Given the description of an element on the screen output the (x, y) to click on. 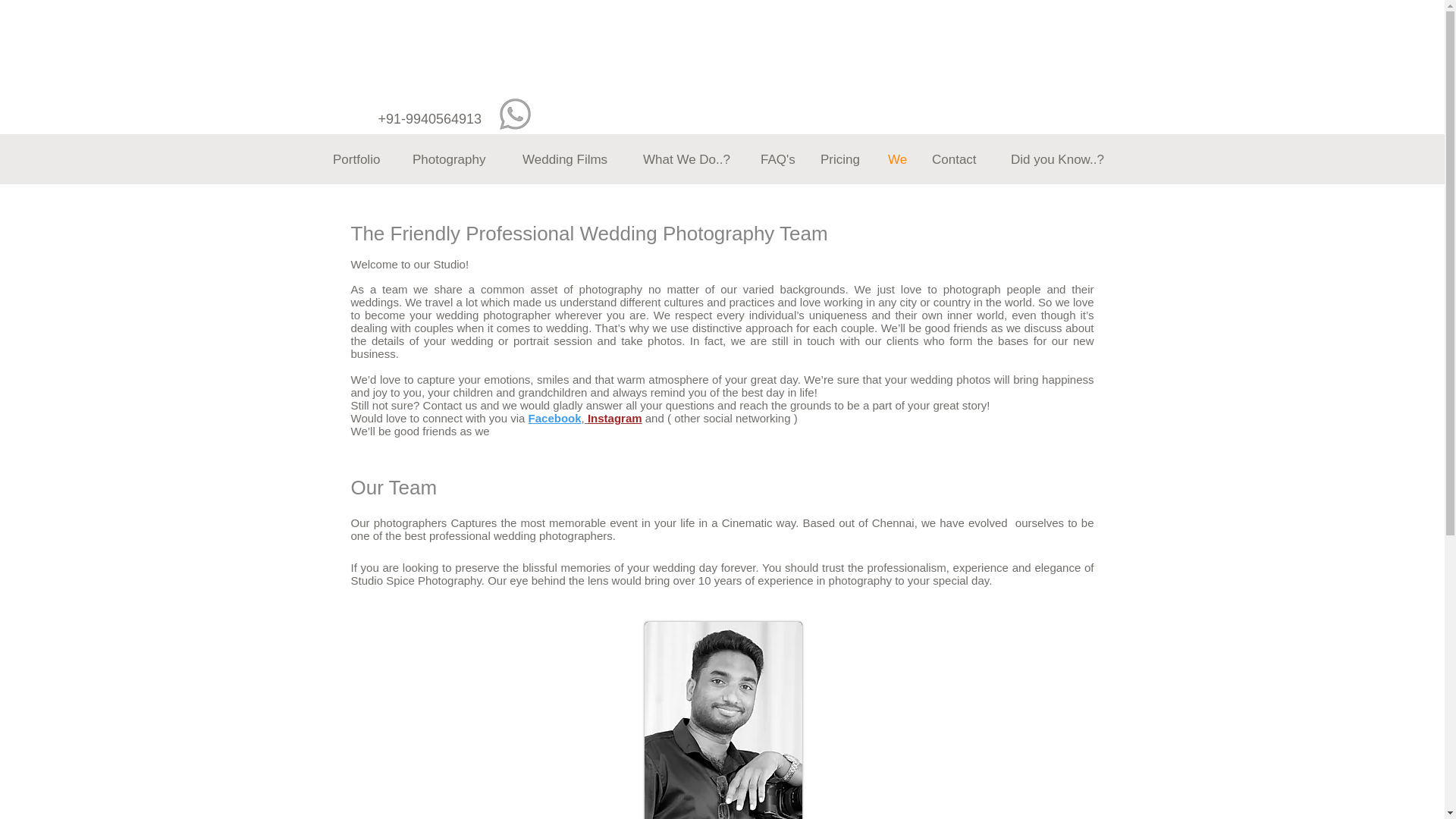
Instagram (613, 418)
Portfolio (361, 159)
FAQ's (779, 159)
Facebook (554, 418)
What We Do..? (690, 159)
Did you Know..? (1061, 159)
Wedding Films (571, 159)
Photography (456, 159)
Contact (959, 159)
Pricing (842, 159)
